Given the description of an element on the screen output the (x, y) to click on. 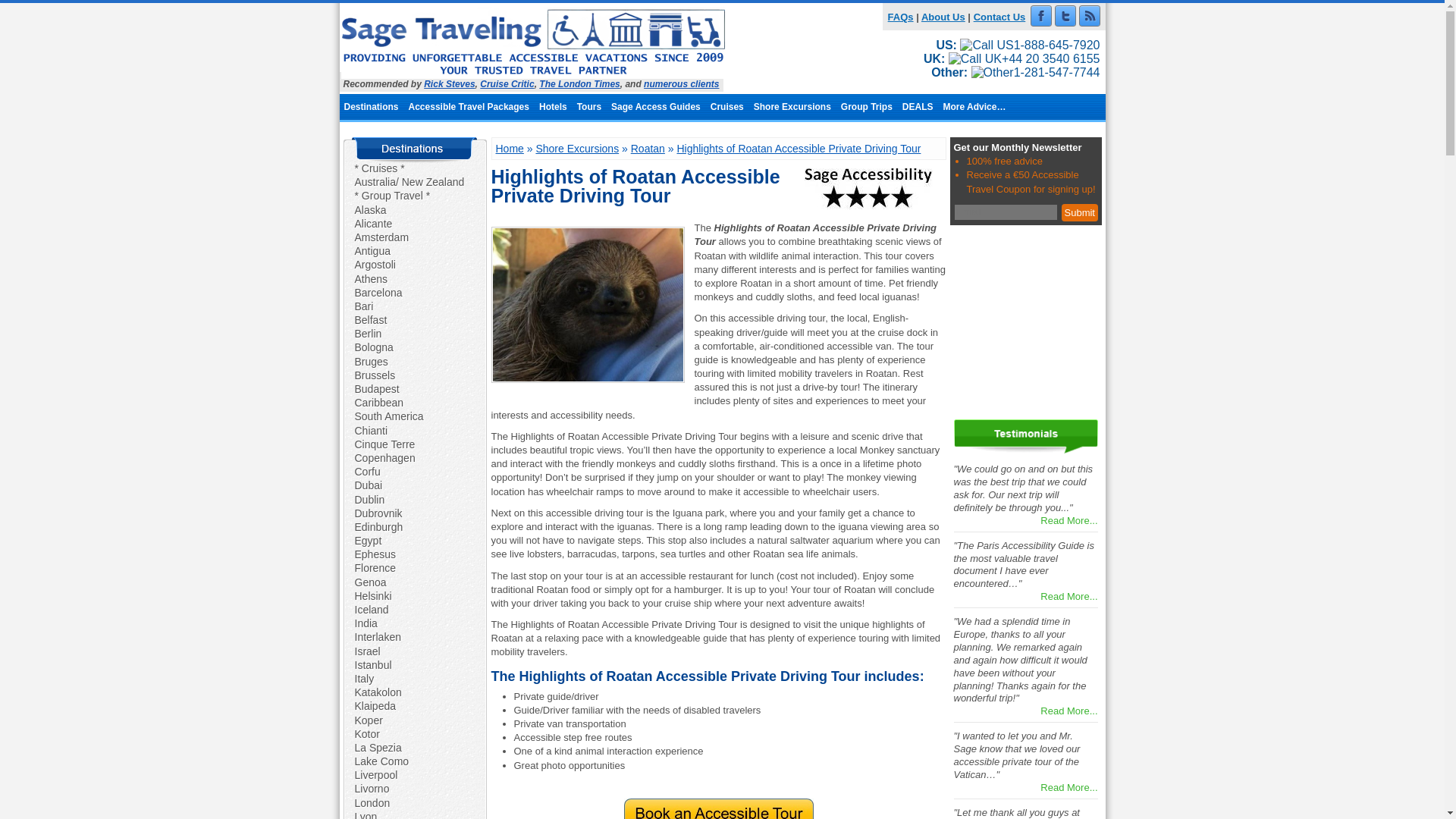
Destinations (370, 106)
FAQs (901, 16)
The London Times (579, 83)
Rick Steves (448, 83)
Submit (1079, 212)
Contact Us (1000, 16)
About Us (943, 16)
Cruise Critic (507, 83)
numerous clients (681, 83)
